Given the description of an element on the screen output the (x, y) to click on. 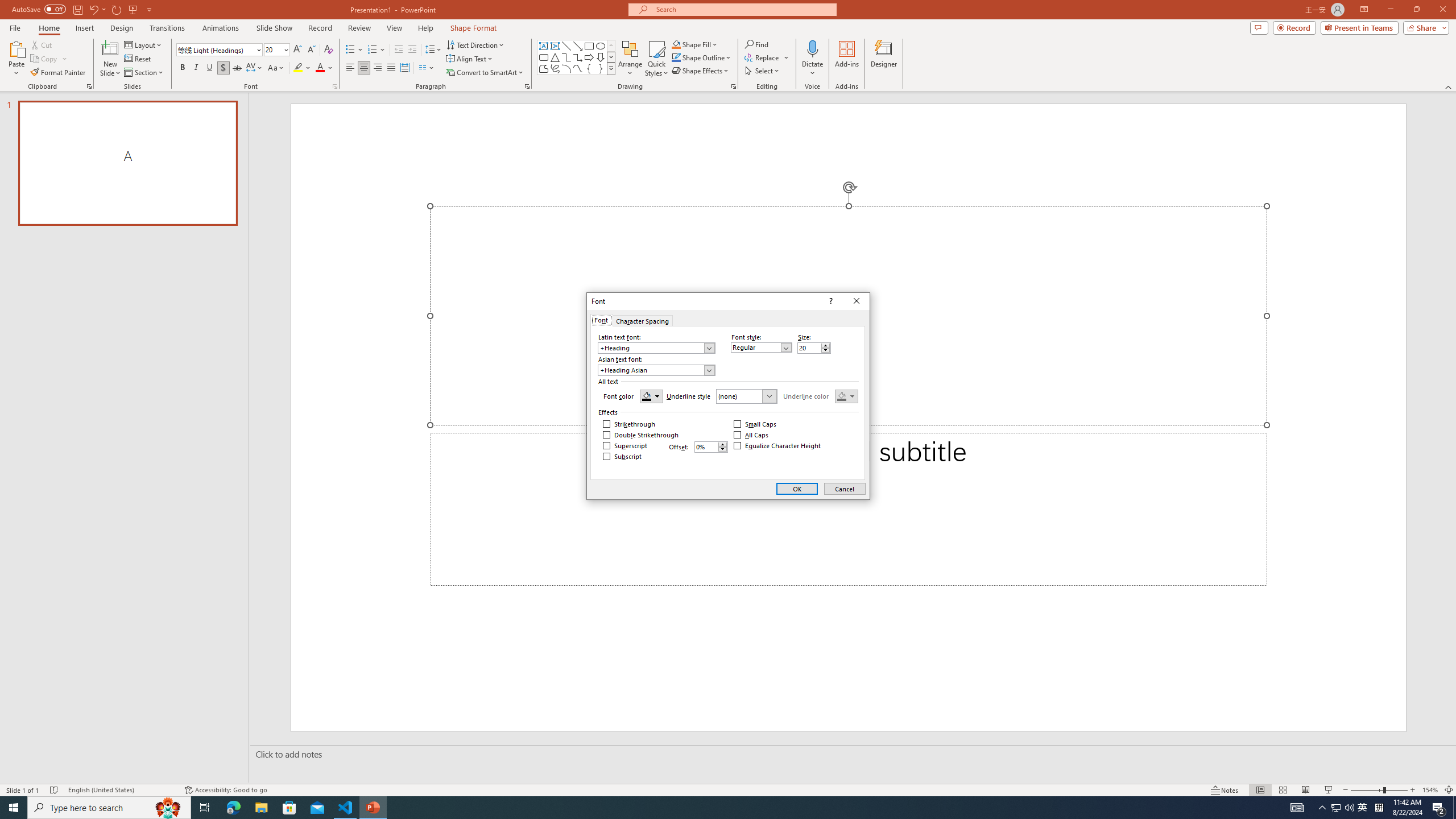
Zoom 154% (1430, 790)
Offset (705, 447)
